Given the description of an element on the screen output the (x, y) to click on. 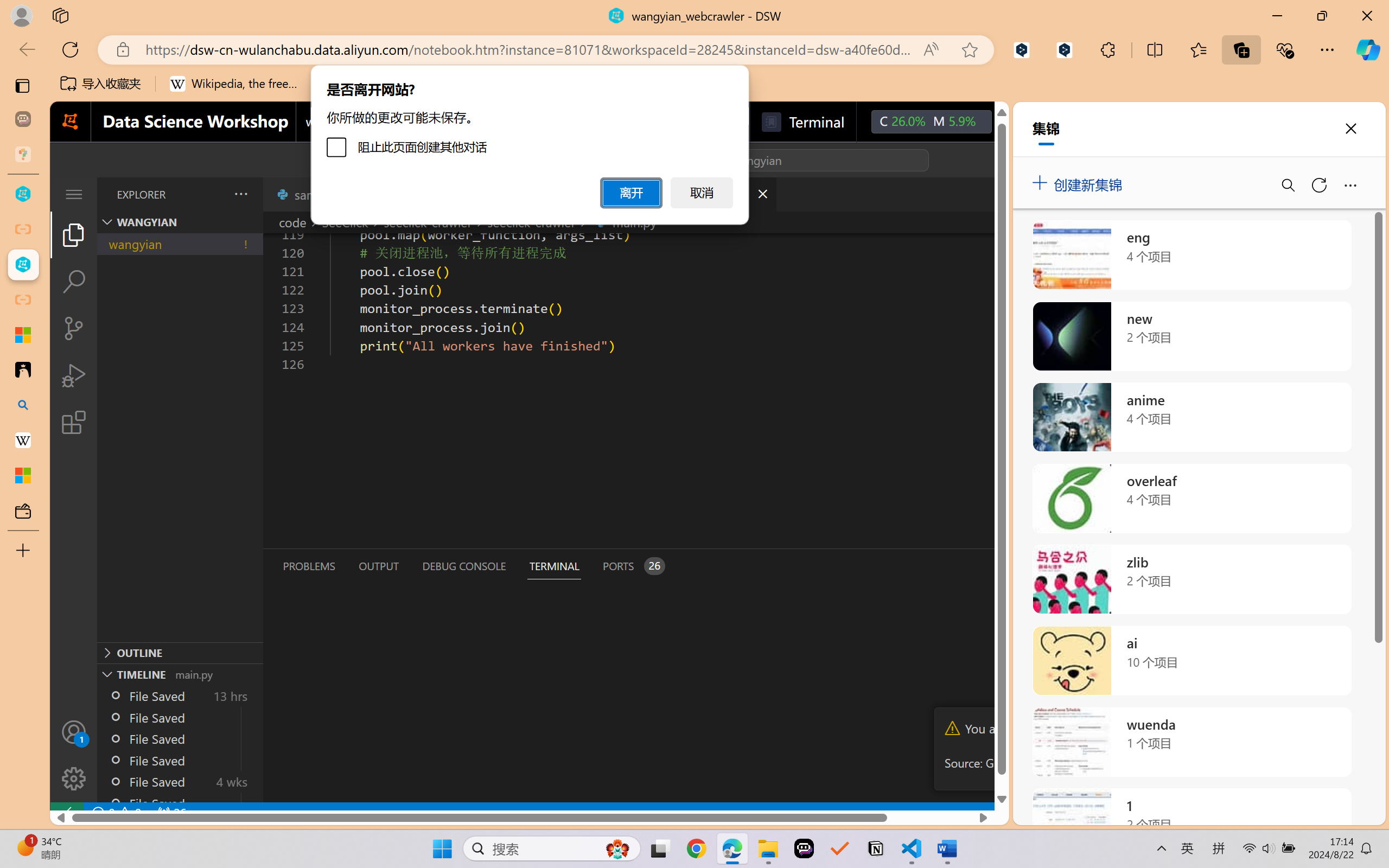
Accounts - Sign in requested (73, 732)
Search (Ctrl+Shift+F) (73, 281)
Copilot (Ctrl+Shift+.) (1368, 49)
